Given the description of an element on the screen output the (x, y) to click on. 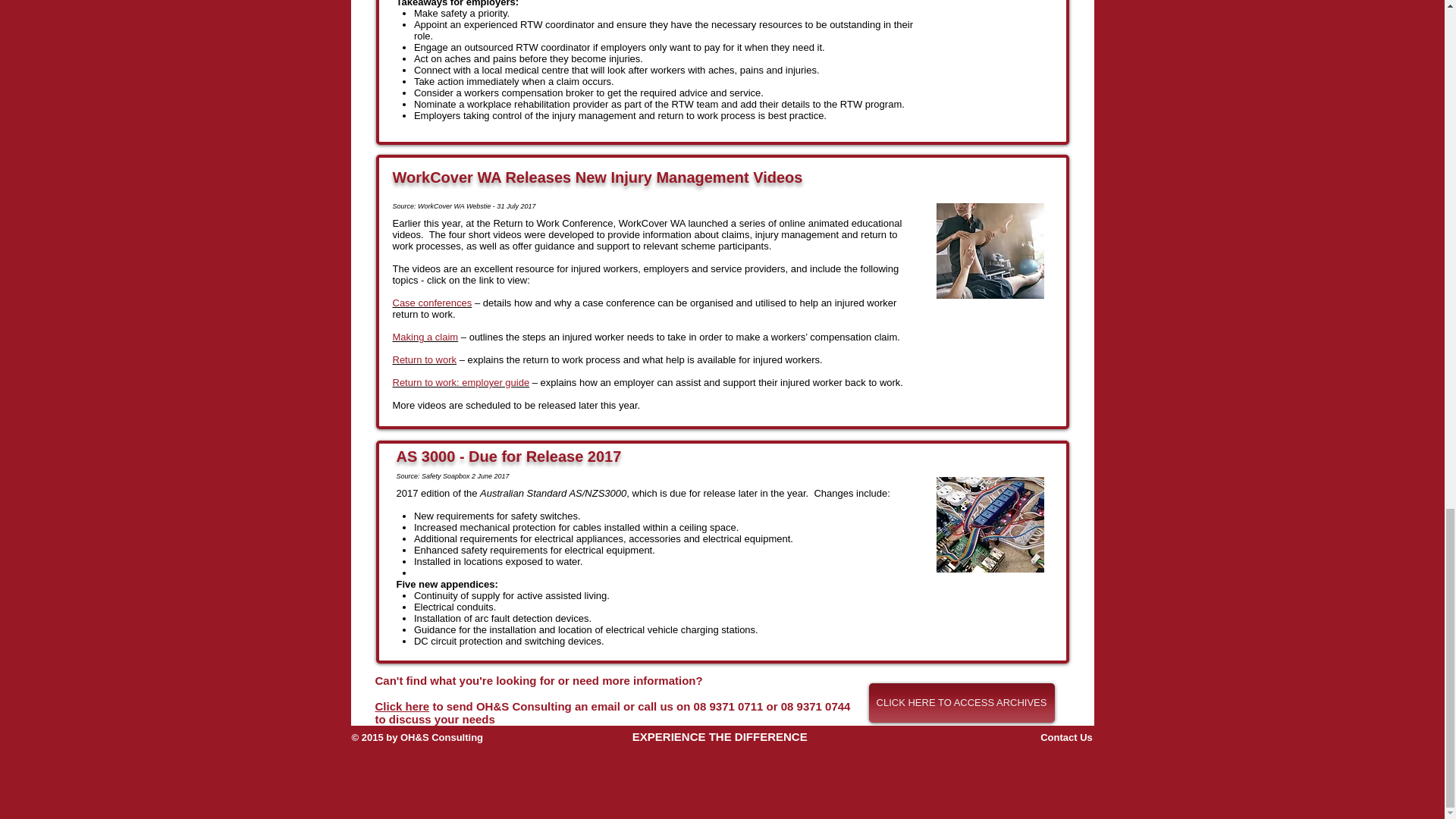
Twitter Follow (1007, 783)
Contact Us (1067, 737)
Case conferences (432, 302)
CLICK HERE TO ACCESS ARCHIVES (961, 702)
Making a claim (425, 337)
AS 3000 Wiring Rules (989, 524)
Facebook Like (513, 798)
Return to work (425, 359)
Return to work: employer guide (461, 382)
